Given the description of an element on the screen output the (x, y) to click on. 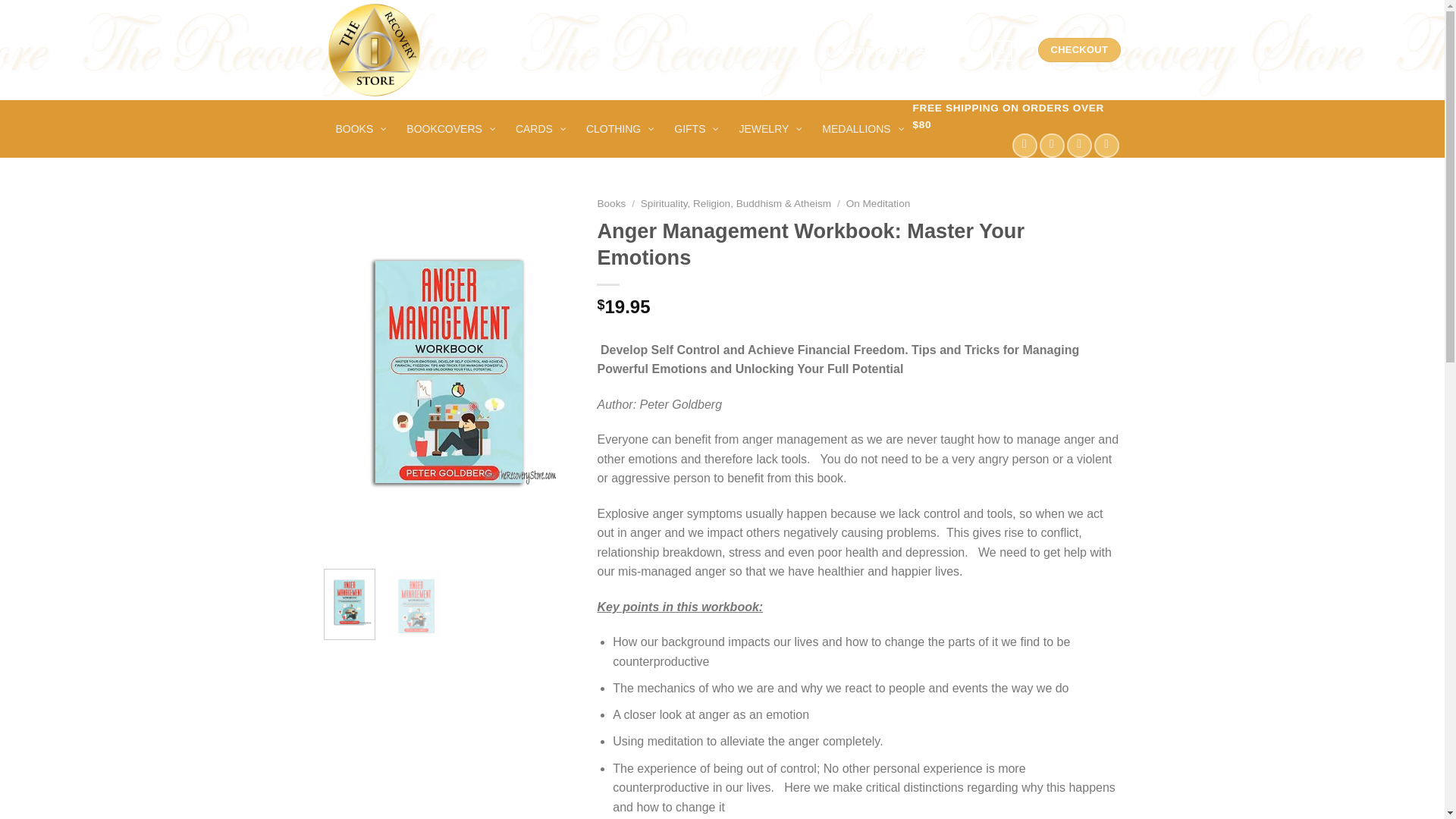
Follow on Instagram (1051, 145)
Cart (984, 49)
CHECKOUT (1078, 50)
The Recovery Store (386, 49)
Call us (1106, 145)
BOOKS (360, 128)
Follow on Facebook (1023, 145)
Search (812, 49)
Send us an email (1079, 145)
